Given the description of an element on the screen output the (x, y) to click on. 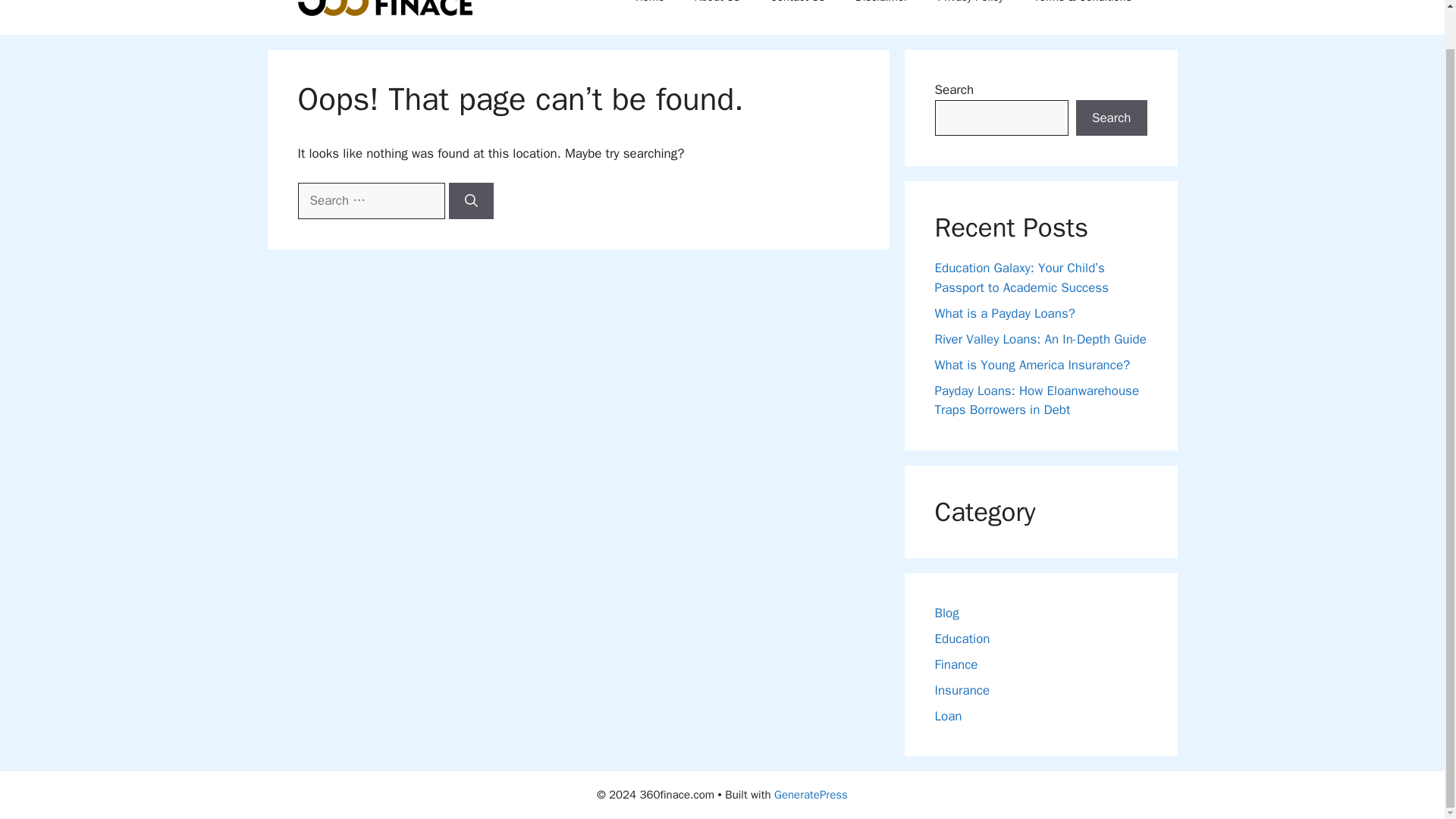
Insurance (962, 690)
River Valley Loans: An In-Depth Guide (1039, 338)
What is a Payday Loans? (1004, 312)
Contact Us (797, 9)
Finance (955, 664)
Loan (947, 715)
Search for: (370, 200)
GeneratePress (810, 794)
What is Young America Insurance? (1031, 364)
About Us (716, 9)
Disclaimer (881, 9)
Privacy Policy (971, 9)
Payday Loans: How Eloanwarehouse Traps Borrowers in Debt (1036, 399)
Home (649, 9)
Blog (946, 612)
